Given the description of an element on the screen output the (x, y) to click on. 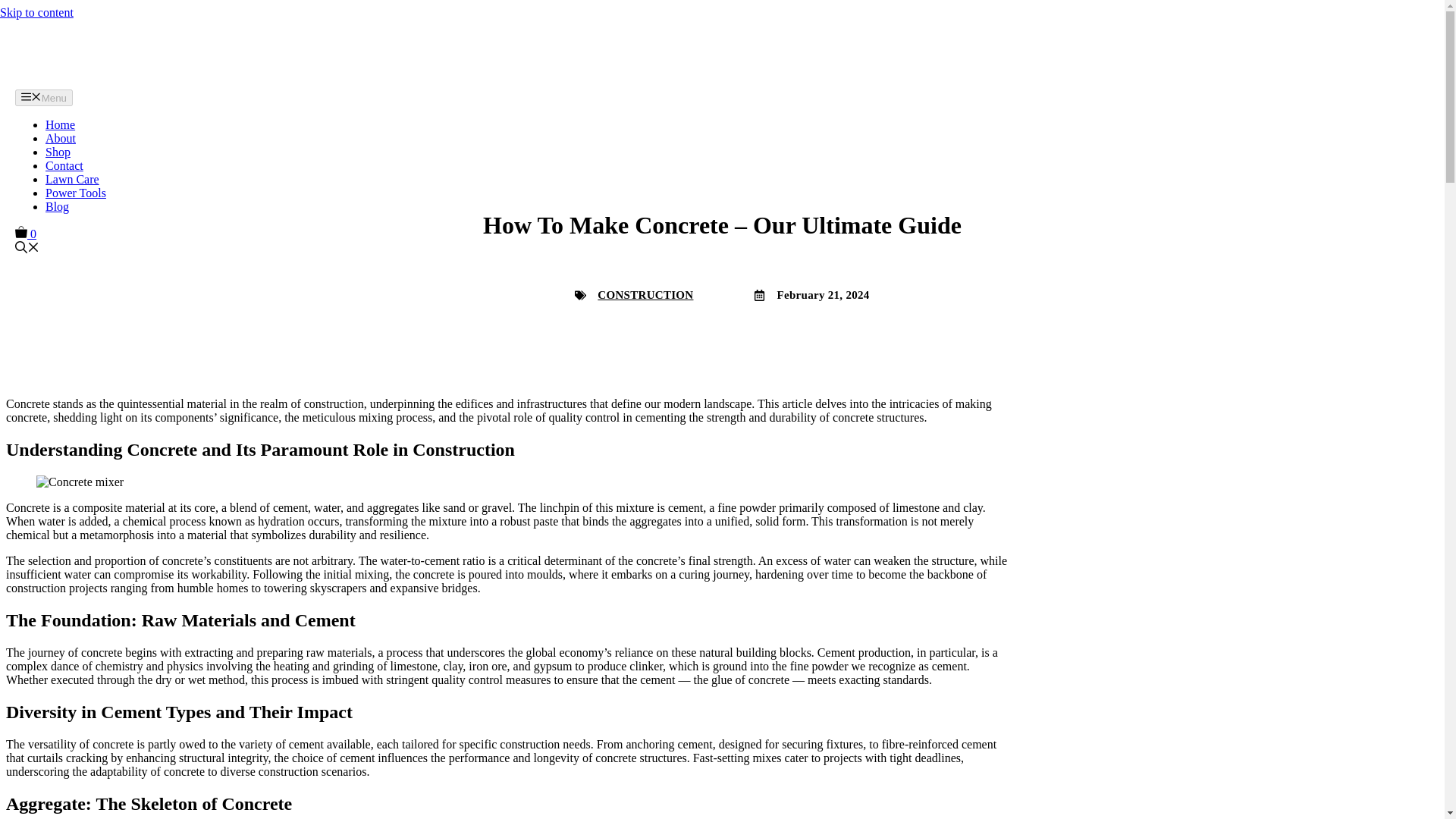
Menu (43, 97)
0 (25, 233)
Skip to content (37, 11)
Contact (63, 164)
Tools'n'Stuff (53, 53)
Blog (56, 205)
Home (60, 124)
Skip to content (37, 11)
CONSTRUCTION (644, 295)
View your shopping cart (25, 233)
